Given the description of an element on the screen output the (x, y) to click on. 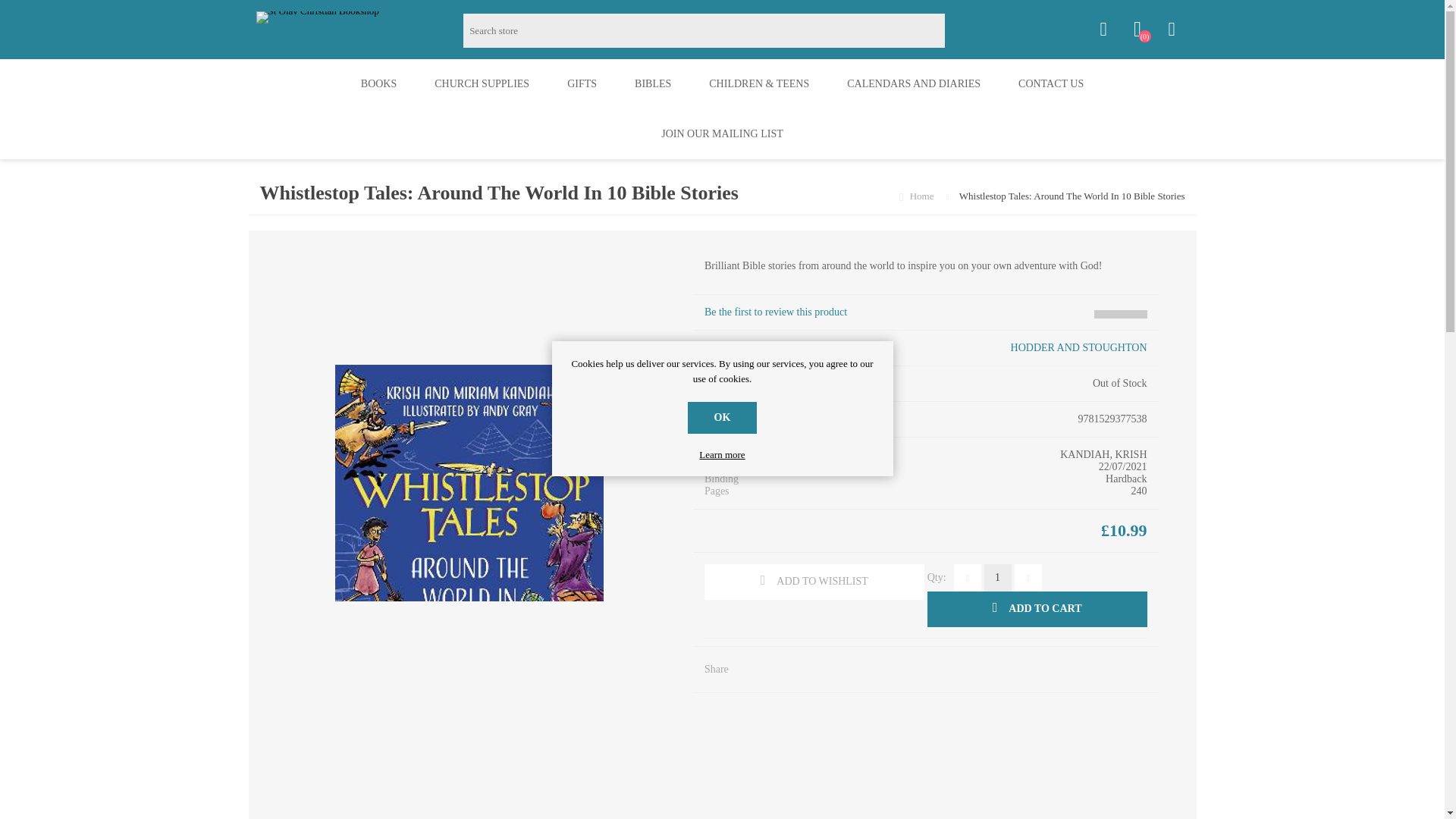
JOIN OUR MAILING LIST (722, 133)
Be the first to review this product (775, 311)
Gifts (581, 83)
Search (961, 30)
1 (997, 577)
Contact Us (1050, 83)
Church Supplies (481, 83)
CHURCH SUPPLIES (481, 83)
Search (961, 30)
CALENDARS AND DIARIES (913, 83)
Join our Mailing List (722, 133)
Search (961, 30)
BIBLES (652, 83)
ADD TO WISHLIST (814, 581)
Home (923, 195)
